Given the description of an element on the screen output the (x, y) to click on. 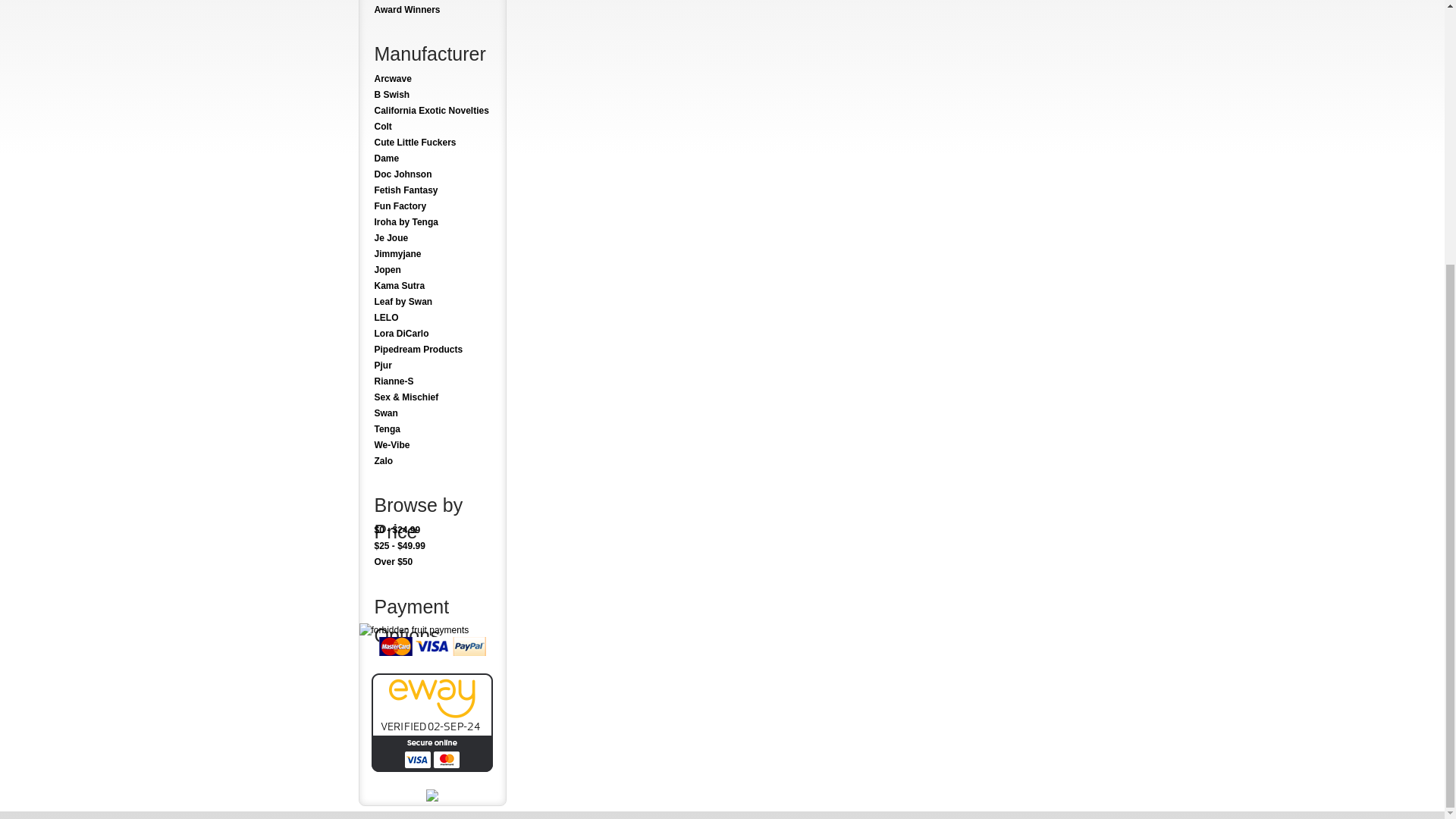
Dame (432, 158)
Fun Factory (432, 206)
Doc Johnson (432, 174)
Colt (432, 126)
Cute Little Fuckers (432, 142)
Arcwave (432, 78)
Iroha by Tenga (432, 222)
Eway Payment Gateway (432, 768)
Fetish Fantasy (432, 190)
Award Winners (432, 10)
